Given the description of an element on the screen output the (x, y) to click on. 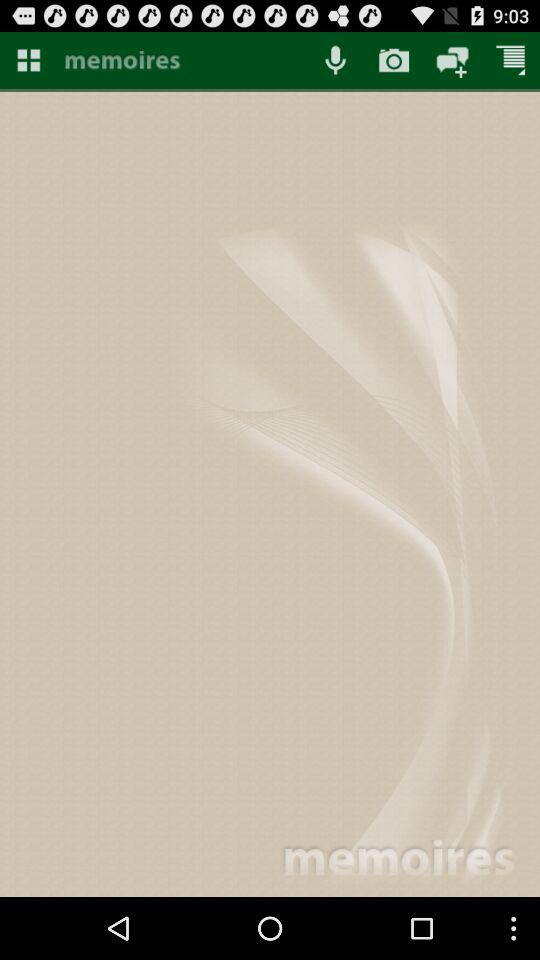
turn on microphone (335, 60)
